Given the description of an element on the screen output the (x, y) to click on. 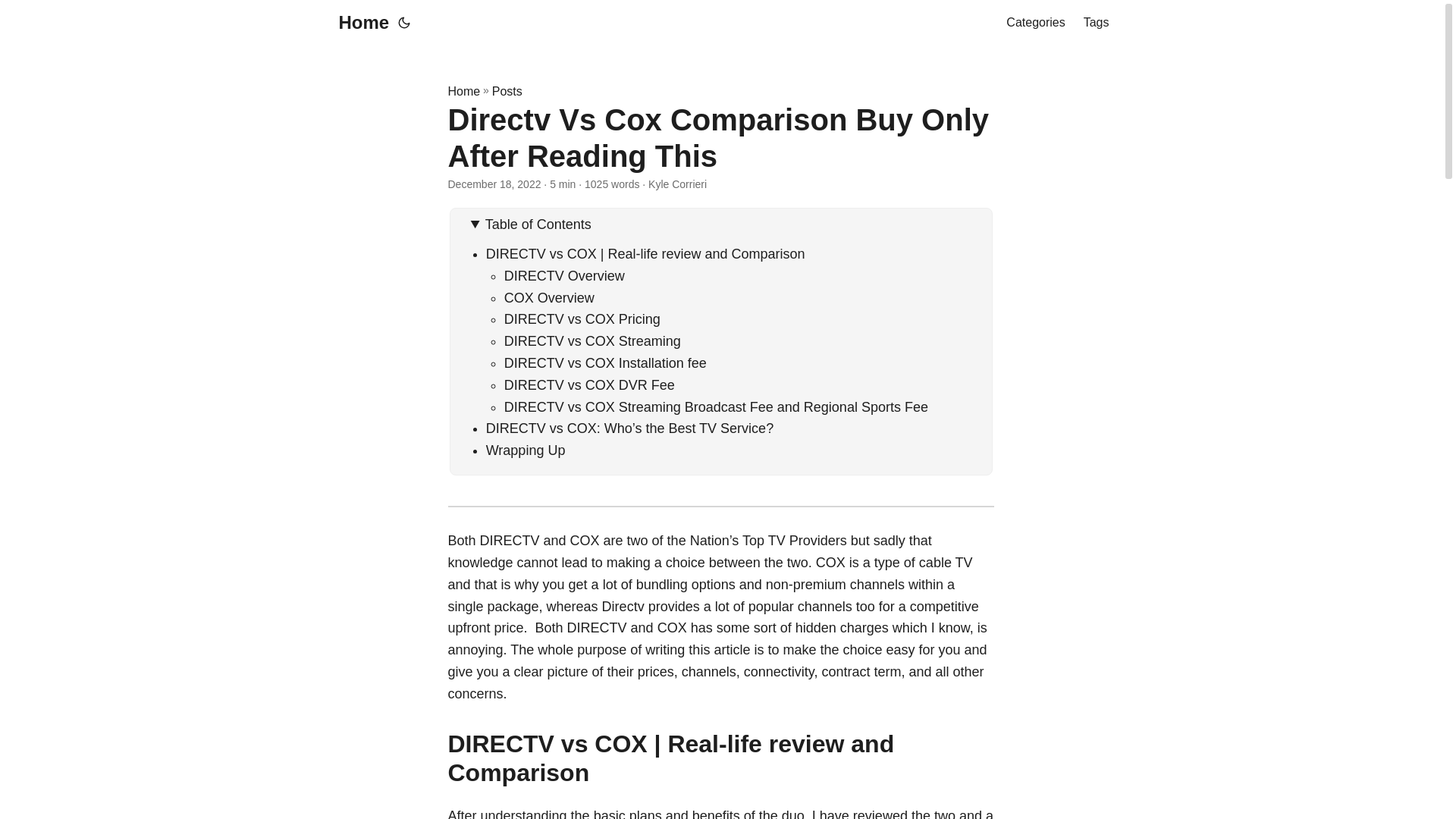
Categories (1035, 22)
Categories (1035, 22)
DIRECTV vs COX Pricing (582, 319)
Home (359, 22)
COX Overview   (552, 297)
DIRECTV vs COX Streaming (592, 340)
Home (463, 91)
DIRECTV Overview  (565, 275)
DIRECTV vs COX DVR Fee (589, 385)
Wrapping Up (526, 450)
Posts (507, 91)
DIRECTV vs COX Installation fee (604, 363)
